Given the description of an element on the screen output the (x, y) to click on. 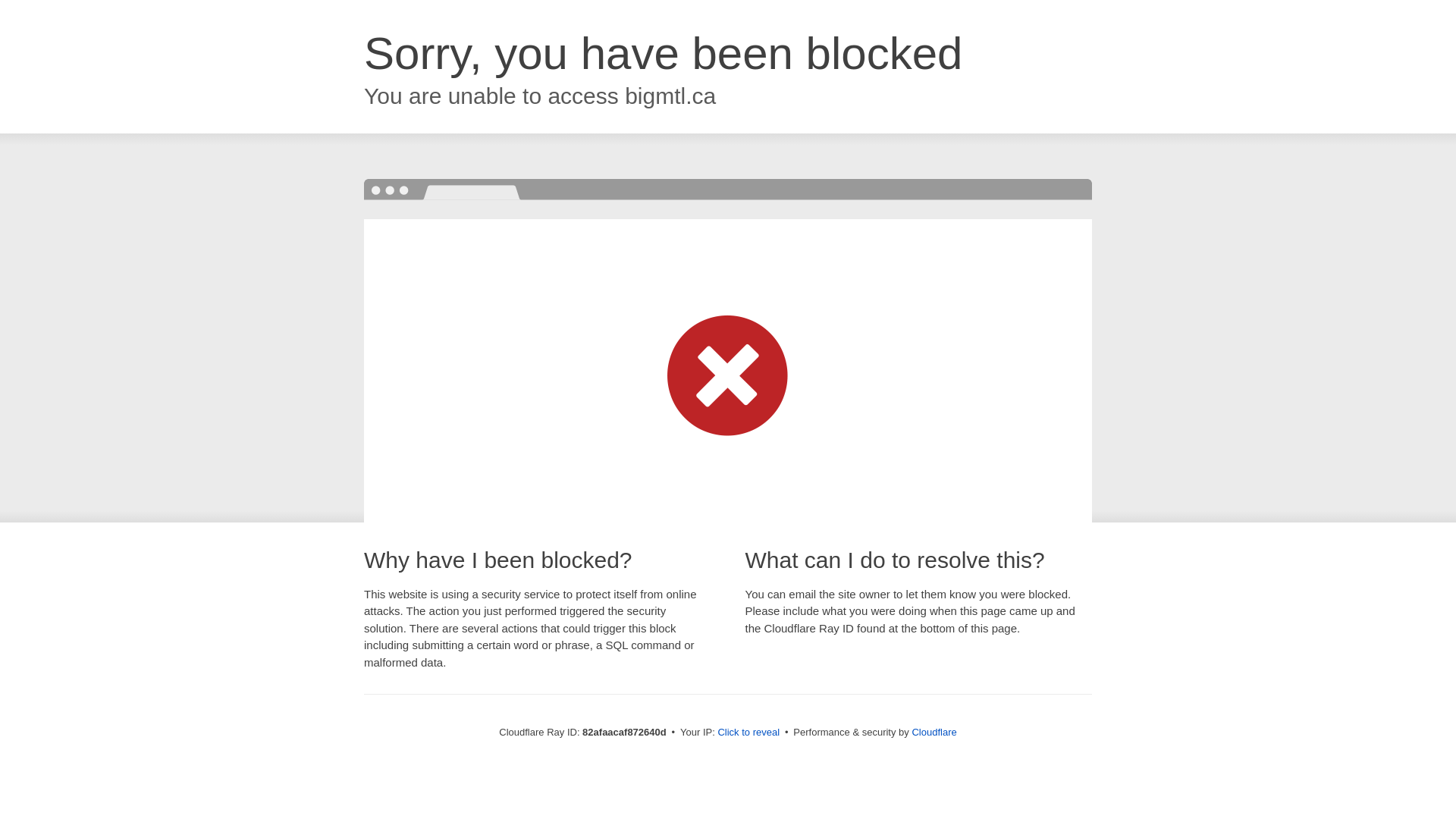
Click to reveal Element type: text (748, 732)
Cloudflare Element type: text (933, 731)
